Given the description of an element on the screen output the (x, y) to click on. 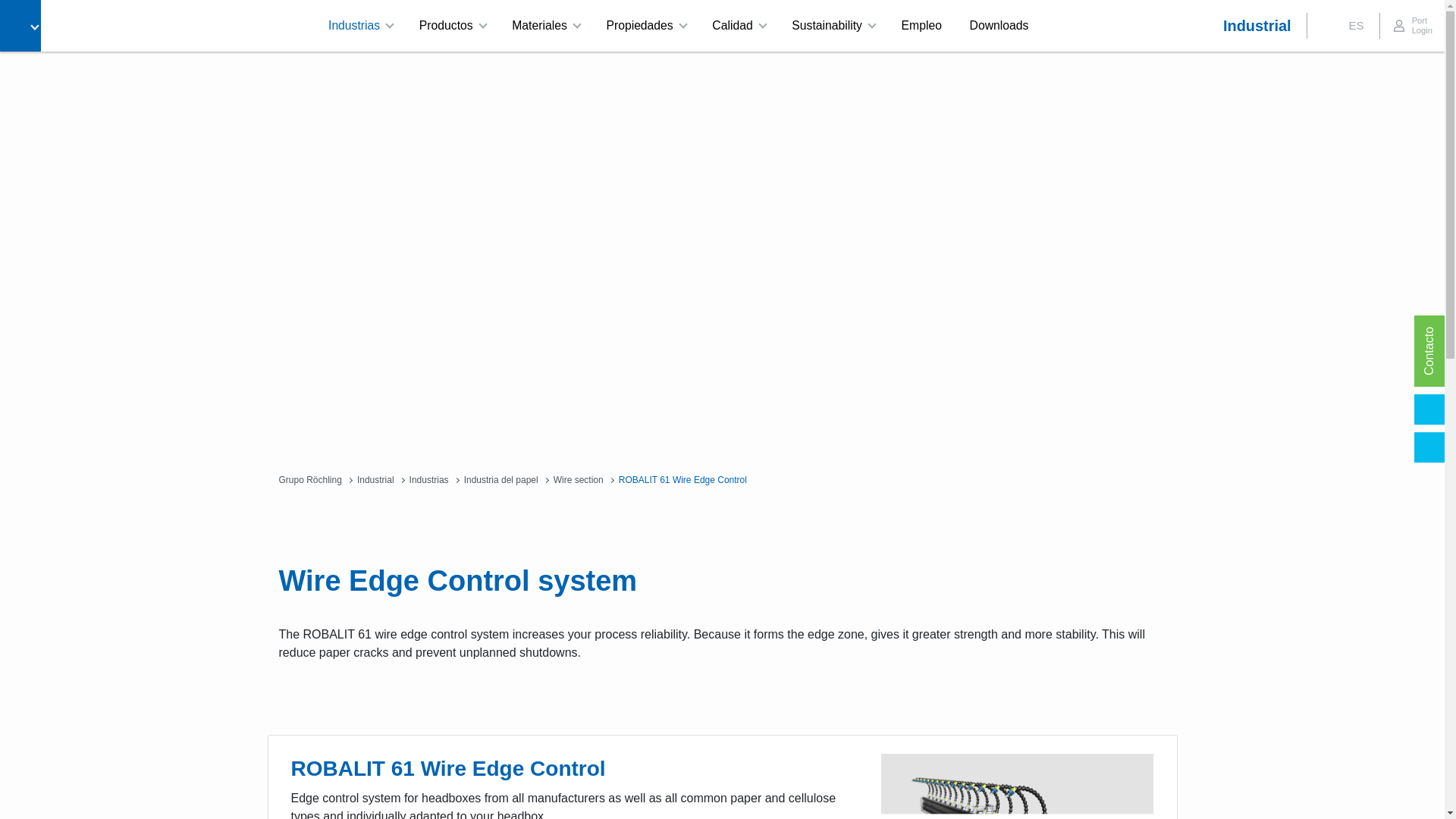
Industrias (360, 25)
Industrias (360, 25)
Productos (451, 25)
